Given the description of an element on the screen output the (x, y) to click on. 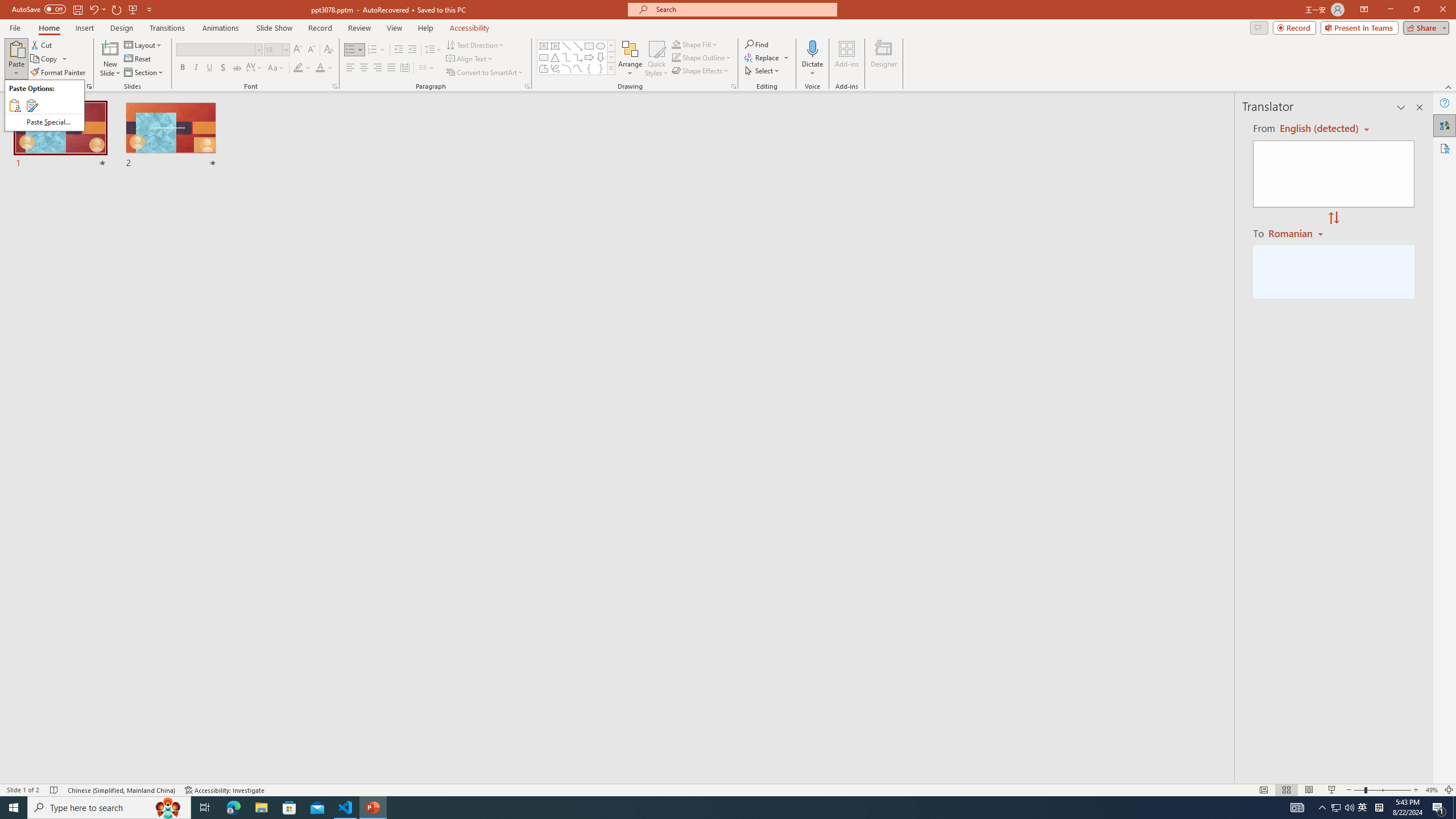
Start (13, 807)
Text Direction (476, 44)
Italic (195, 67)
Font Color (324, 67)
Arc (566, 68)
Increase Font Size (297, 49)
Curve (577, 68)
New Slide (110, 58)
User Promoted Notification Area (1342, 807)
Columns (426, 67)
Text Highlight Color (302, 67)
